Given the description of an element on the screen output the (x, y) to click on. 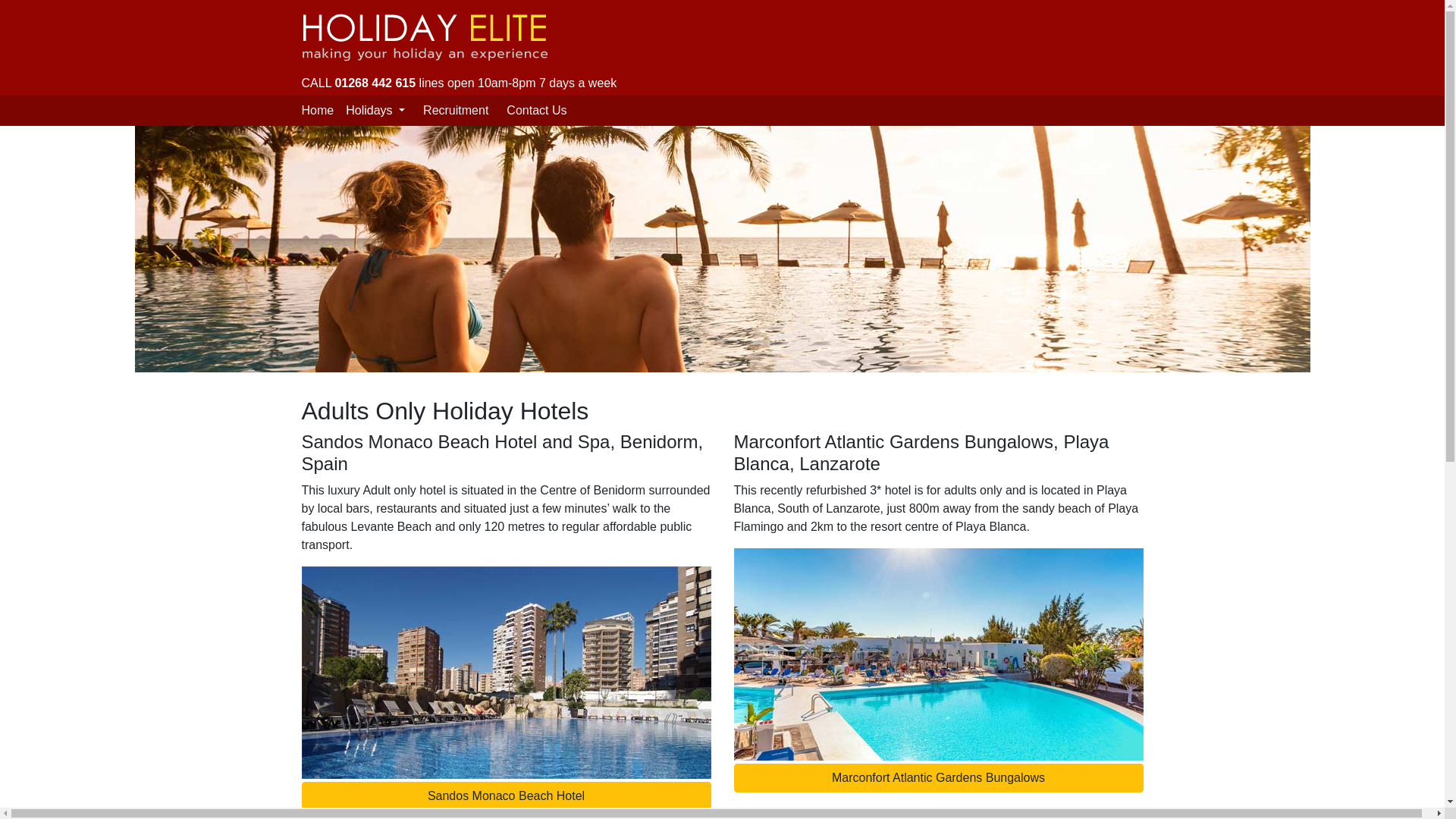
Sandos Monaco Beach Hotel (506, 796)
Holiday Types (381, 110)
Marconfort Atlantic Gardens Bungalows (937, 777)
Marconfort Atlantic Gardens Bungalows (937, 777)
Contact Us (536, 110)
Contact Holiday Elite (536, 110)
Recruitment (455, 110)
Holiday Elite (317, 110)
Holidays (381, 110)
Holiday Elite Recruitment (455, 110)
Home (317, 110)
Sandos Monaco Beach Hotel (506, 796)
